Given the description of an element on the screen output the (x, y) to click on. 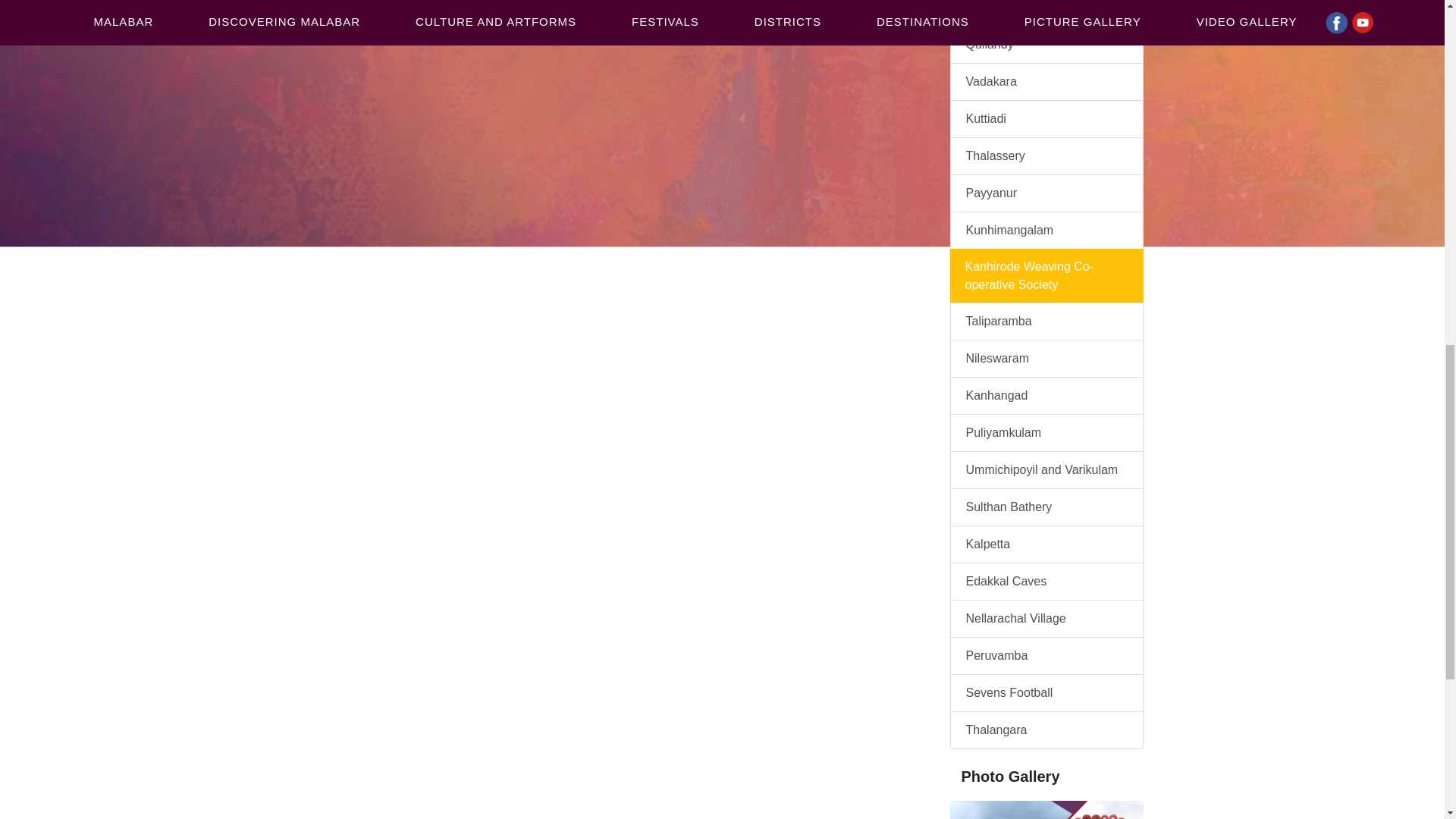
Thalassery (1045, 156)
Picture Gallery (1045, 809)
Kallayi (1045, 13)
Payyanur (1045, 193)
Vadakara (1045, 81)
Kuttiadi (1045, 118)
Quilandy (1045, 44)
